Given the description of an element on the screen output the (x, y) to click on. 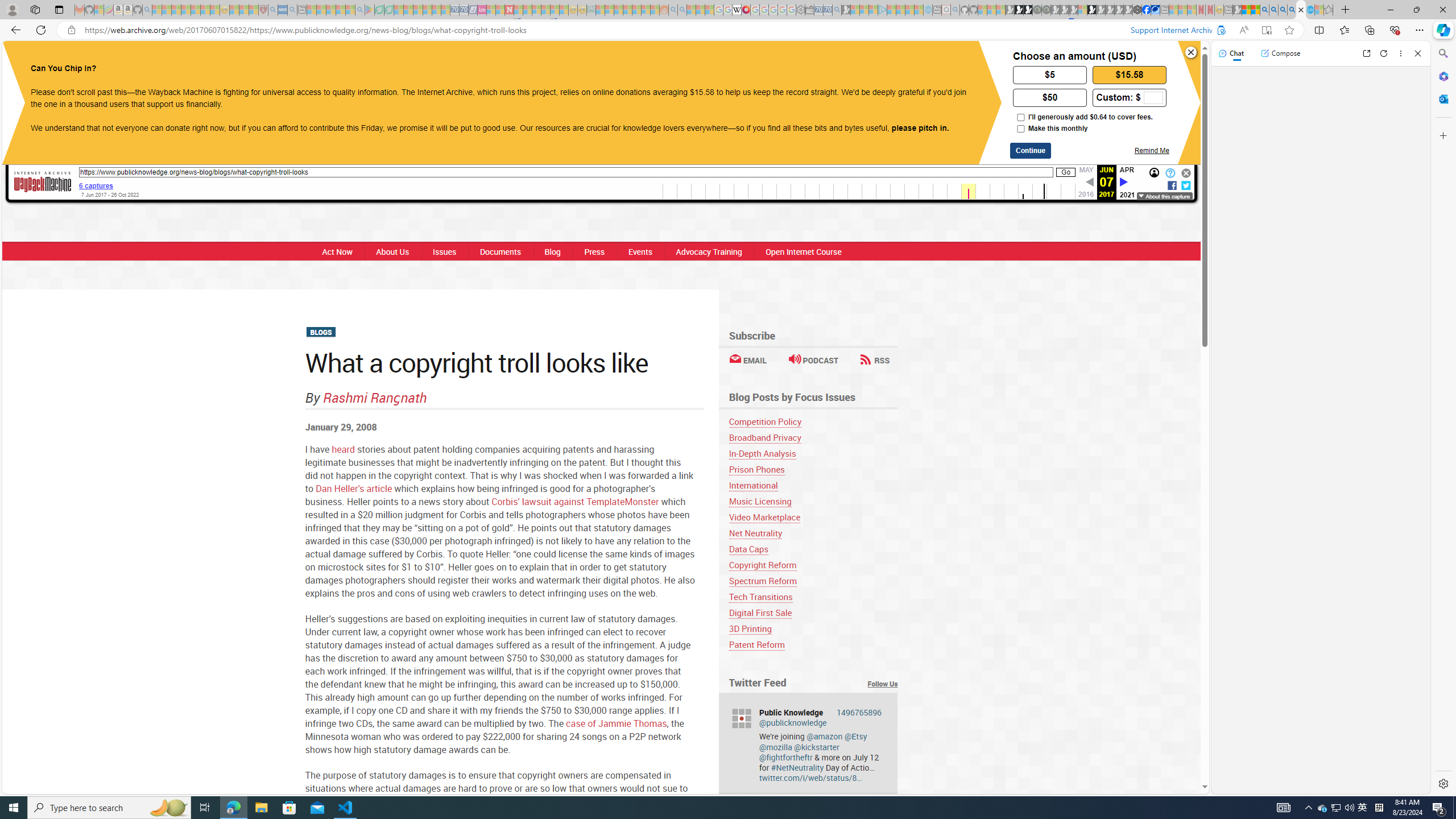
Open Internet Course (803, 251)
Issues (443, 251)
Advocacy Training (708, 251)
Play Zoo Boom in your browser | Games from Microsoft Start (1018, 9)
Spectrum Reform (762, 580)
@fightfortheftr (785, 756)
publicknowledge (740, 718)
MSN - Sleeping (1236, 9)
3D Printing (813, 628)
Compose (1280, 52)
@kickstarter (816, 746)
